Given the description of an element on the screen output the (x, y) to click on. 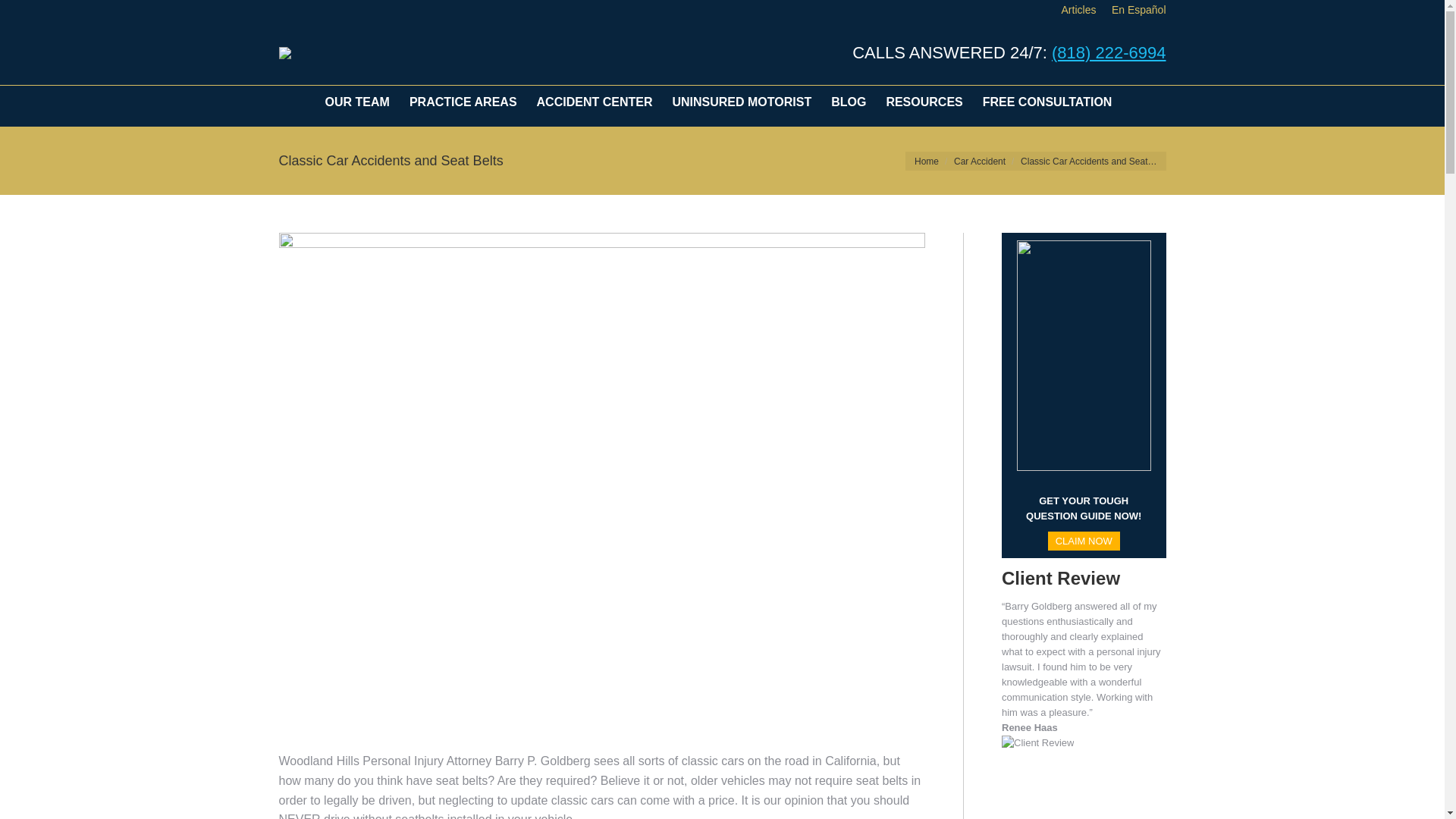
Home (926, 161)
ACCIDENT CENTER (596, 101)
Articles (1078, 9)
UNINSURED MOTORIST (741, 101)
Car Accident (979, 161)
PRACTICE AREAS (463, 101)
BLOG (849, 101)
OUR TEAM (357, 101)
RESOURCES (924, 101)
